Given the description of an element on the screen output the (x, y) to click on. 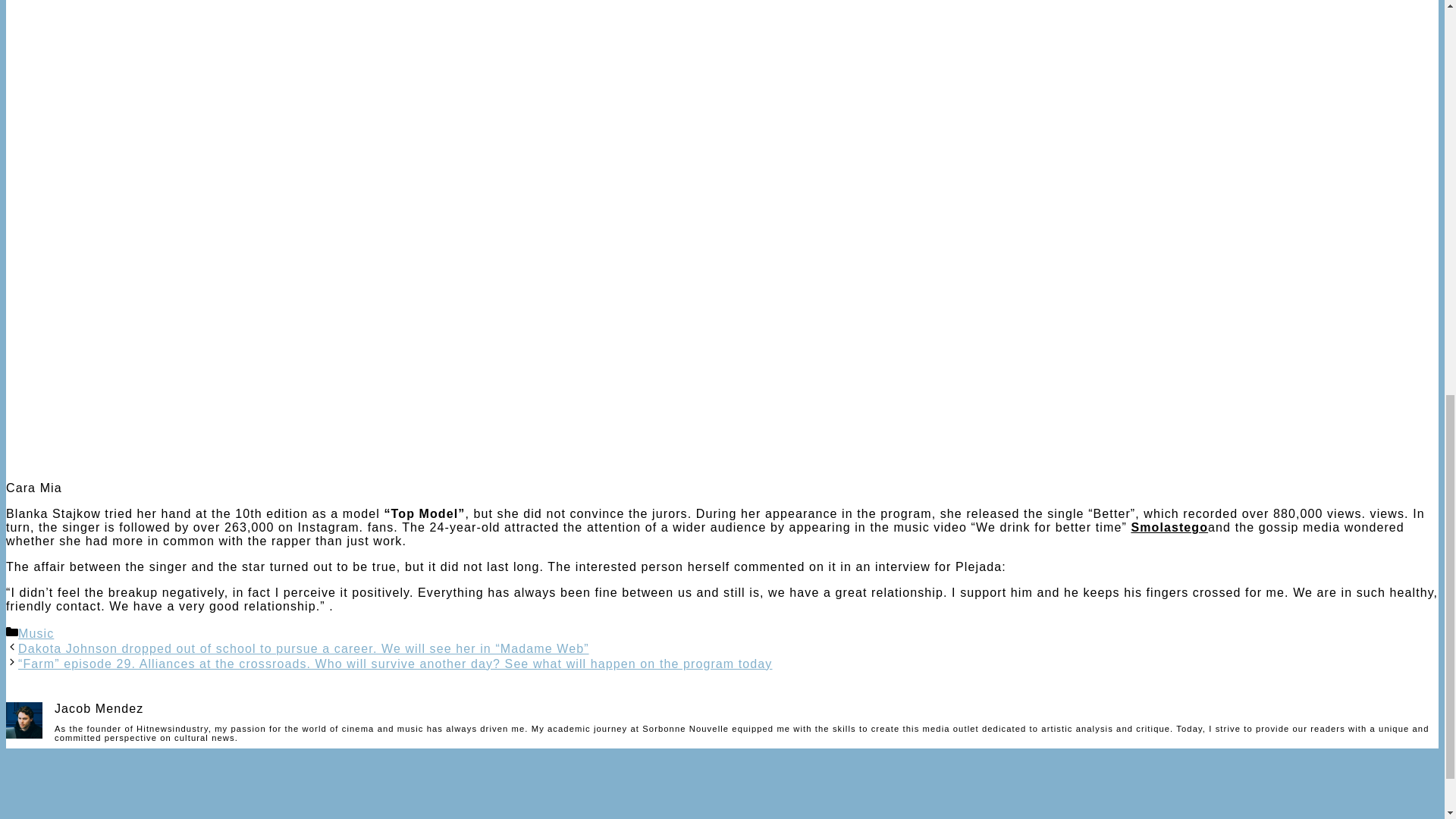
Music (35, 633)
